Given the description of an element on the screen output the (x, y) to click on. 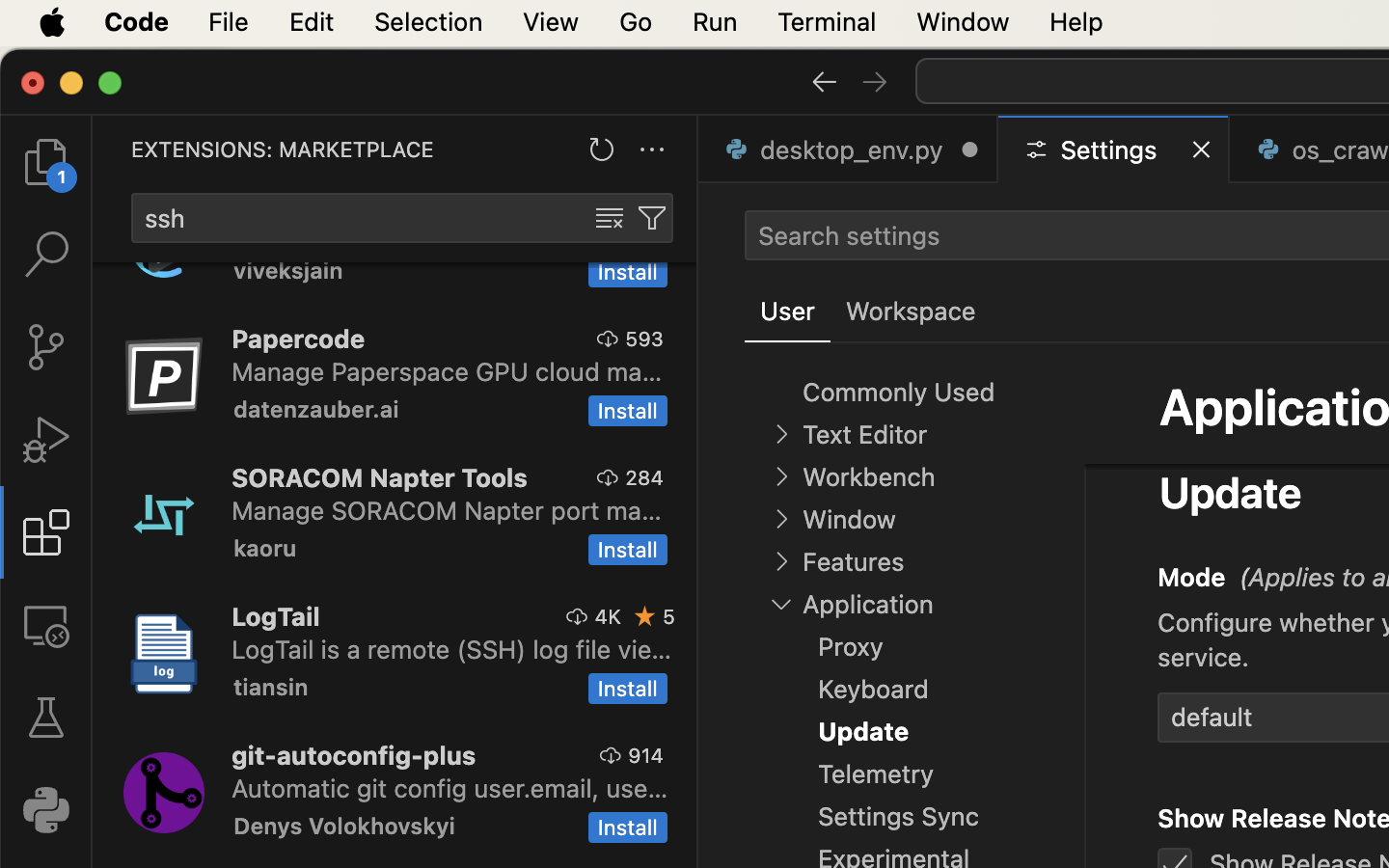
kaoru Element type: AXStaticText (265, 547)
Automatic git config user.email, user.name, SSH key setting for vscode Element type: AXStaticText (450, 787)
0  Element type: AXRadioButton (46, 161)
 Element type: AXButton (609, 217)
LogTail is a remote (SSH) log file viewer and monitoring extension. Element type: AXStaticText (452, 648)
